Given the description of an element on the screen output the (x, y) to click on. 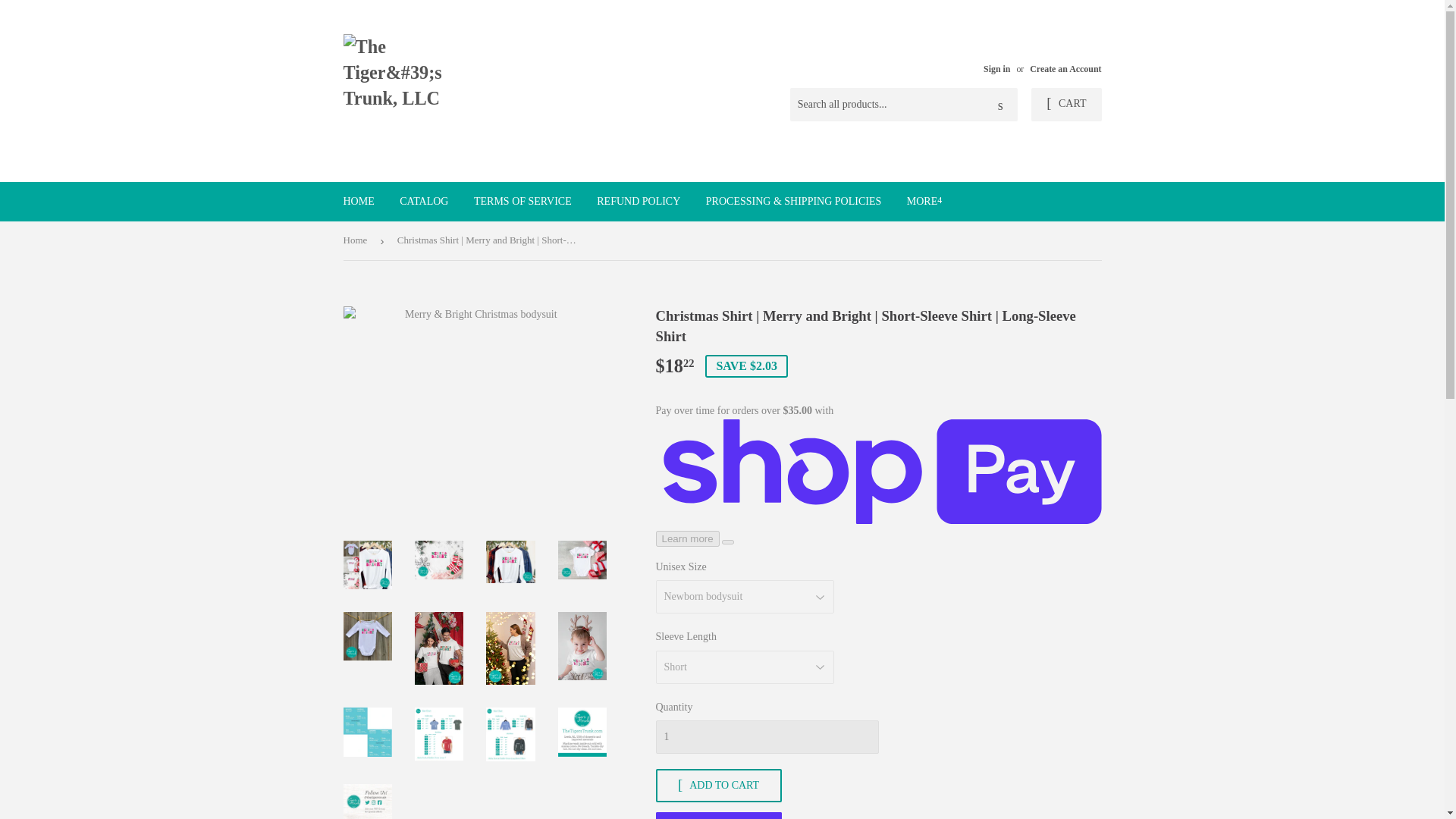
Search (1000, 105)
1 (766, 736)
HOME (358, 201)
MORE (924, 201)
TERMS OF SERVICE (523, 201)
REFUND POLICY (638, 201)
Create an Account (1064, 68)
Sign in (997, 68)
CART (1065, 104)
ADD TO CART (717, 785)
CATALOG (424, 201)
